Given the description of an element on the screen output the (x, y) to click on. 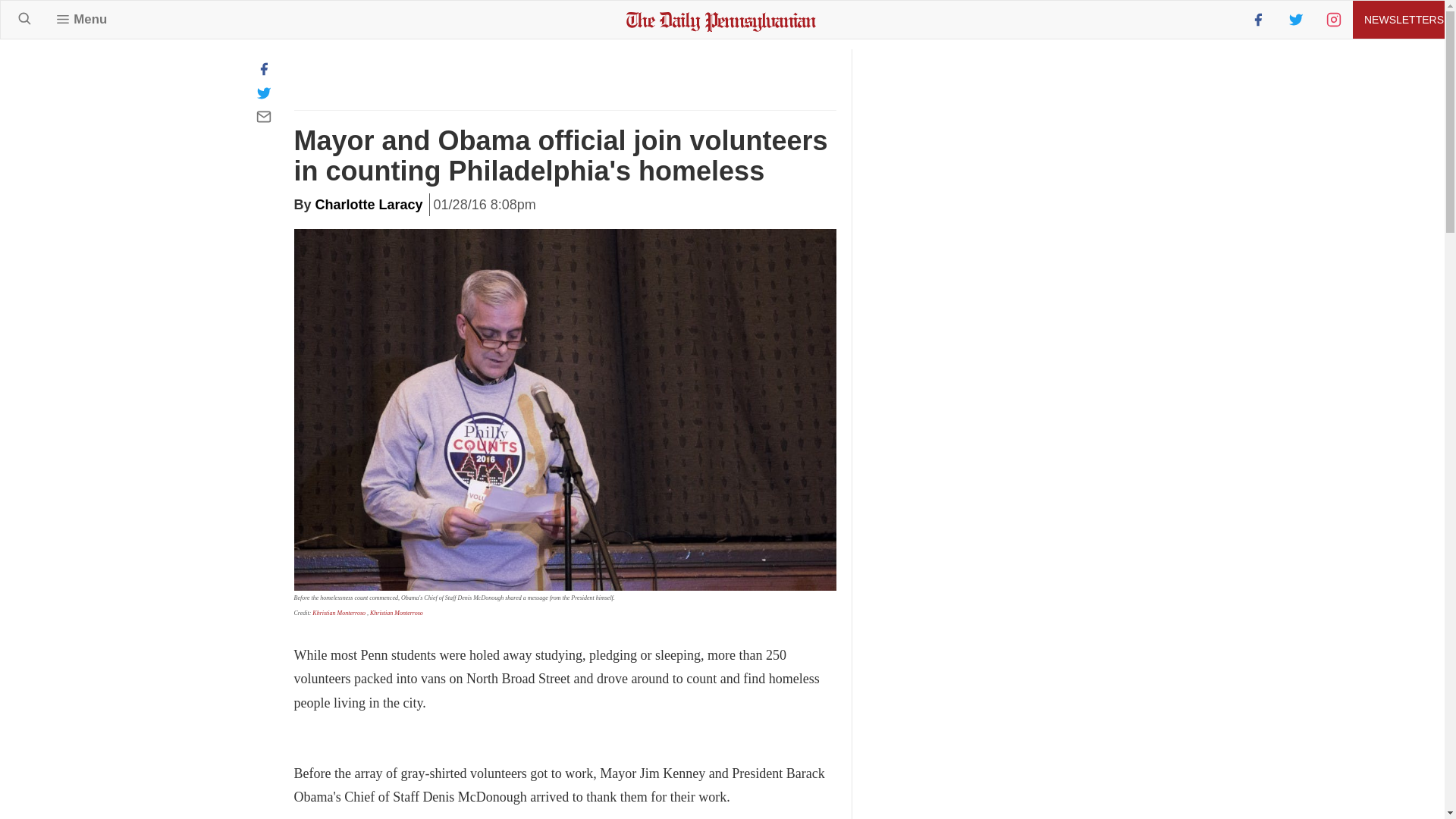
Menu (81, 18)
